Given the description of an element on the screen output the (x, y) to click on. 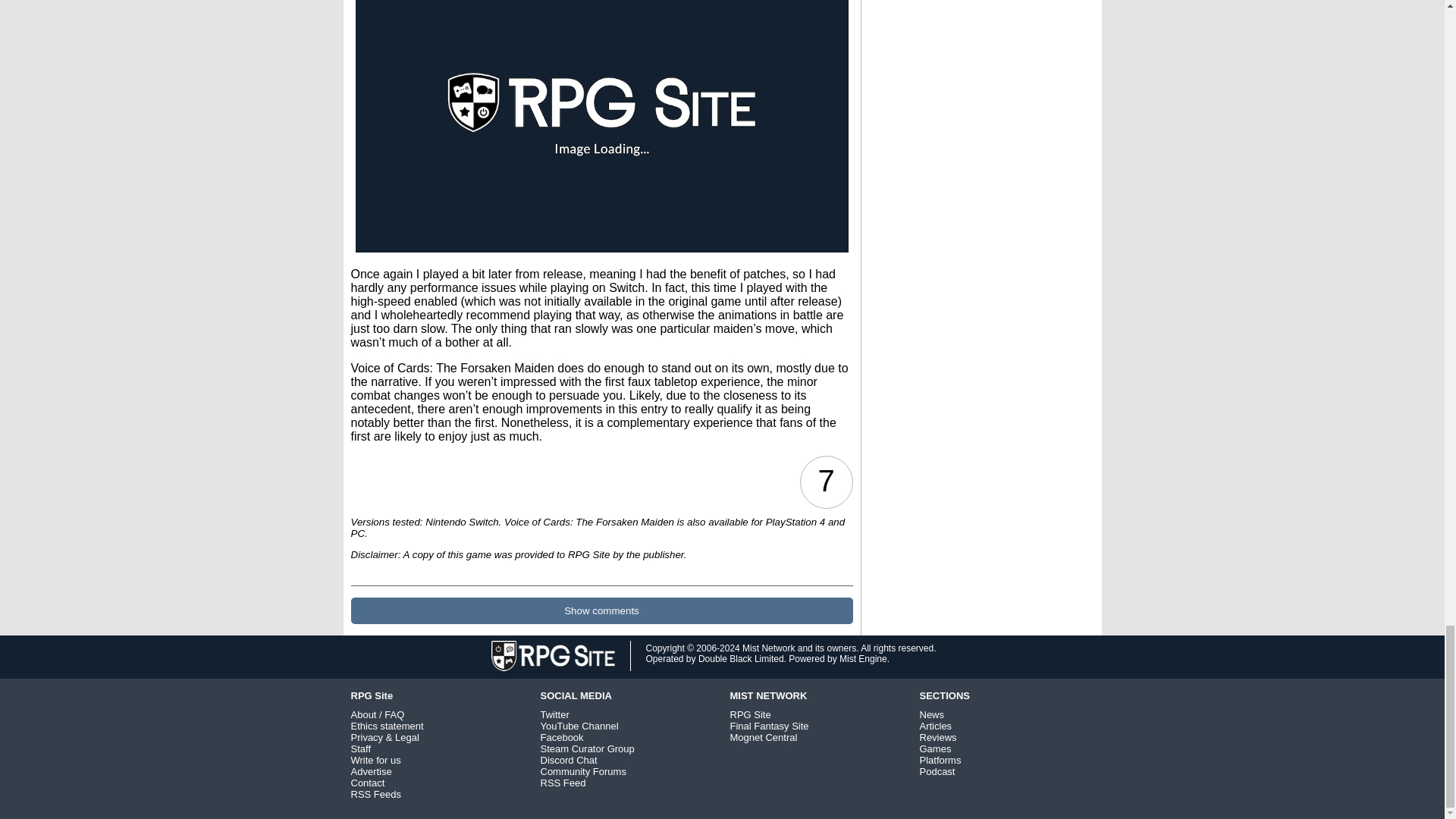
Contact (367, 782)
Show comments (600, 610)
Ethics statement (386, 726)
Write for us (375, 759)
Twitter (554, 714)
RSS Feeds (375, 794)
Advertise (370, 771)
Staff (360, 748)
